Given the description of an element on the screen output the (x, y) to click on. 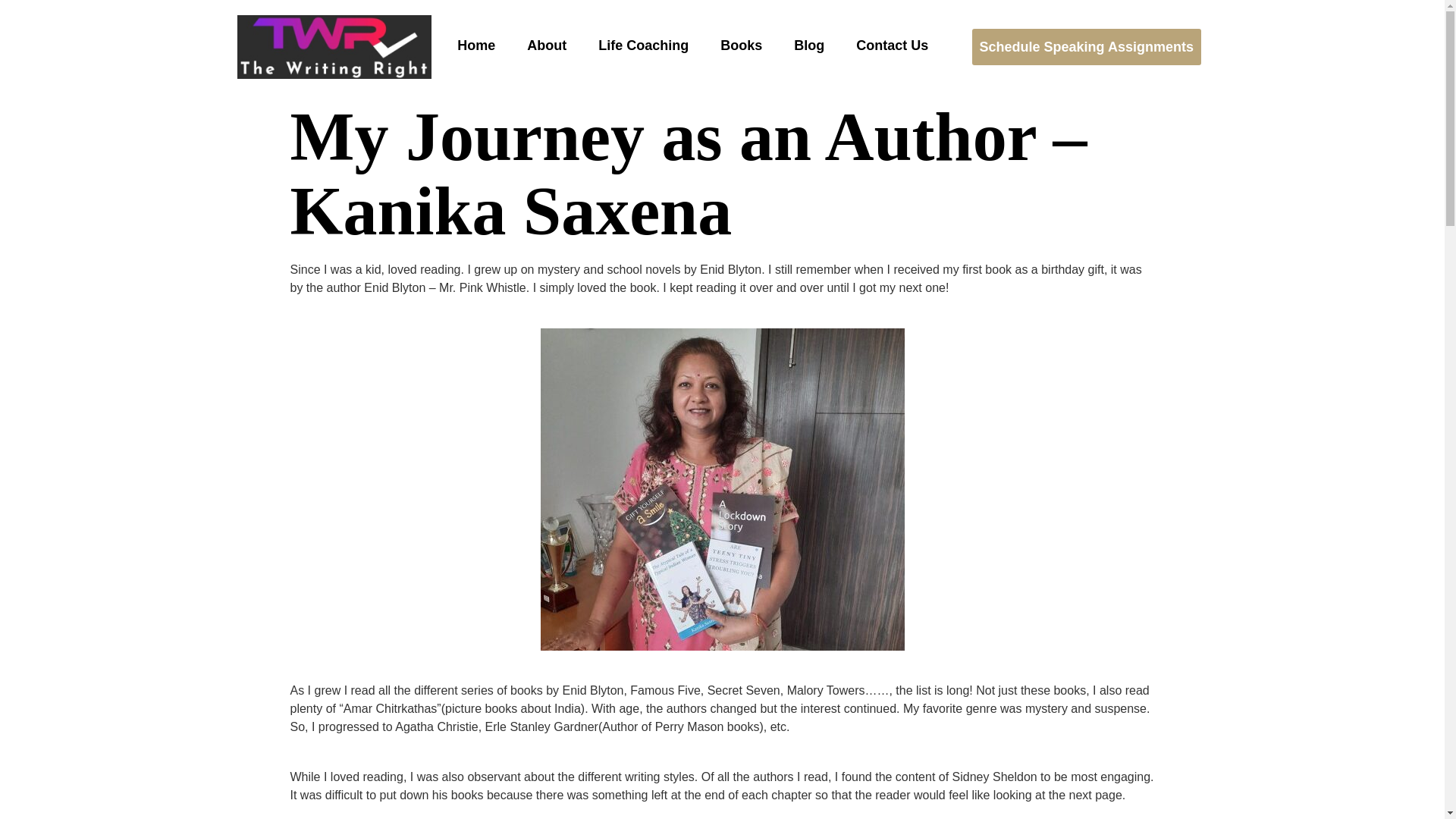
Contact Us (884, 45)
Life Coaching (636, 45)
Schedule Speaking Assignments (1086, 46)
Home (468, 45)
Blog (801, 45)
Books (734, 45)
About (539, 45)
